Given the description of an element on the screen output the (x, y) to click on. 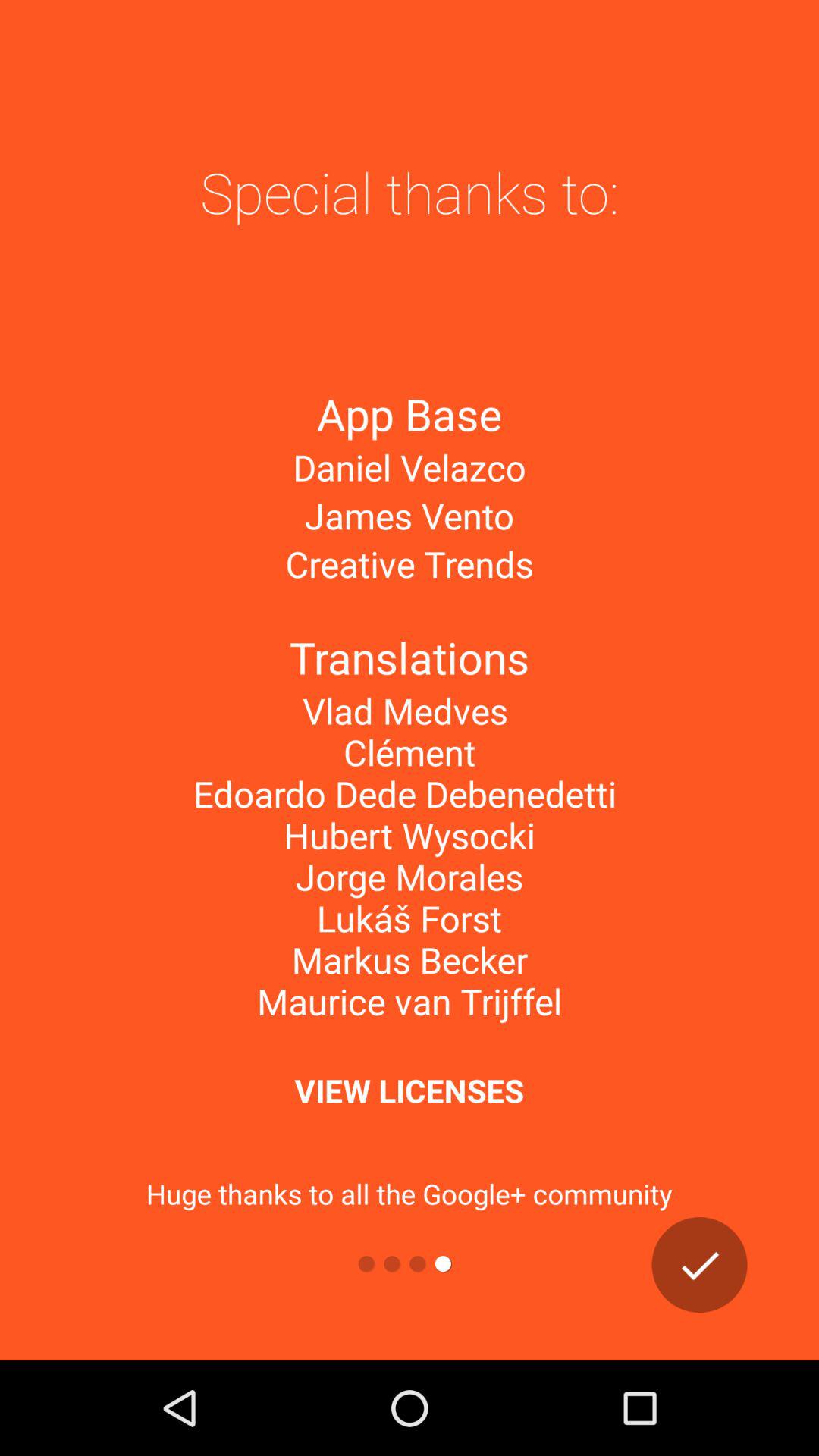
tap item below view licenses icon (699, 1264)
